Given the description of an element on the screen output the (x, y) to click on. 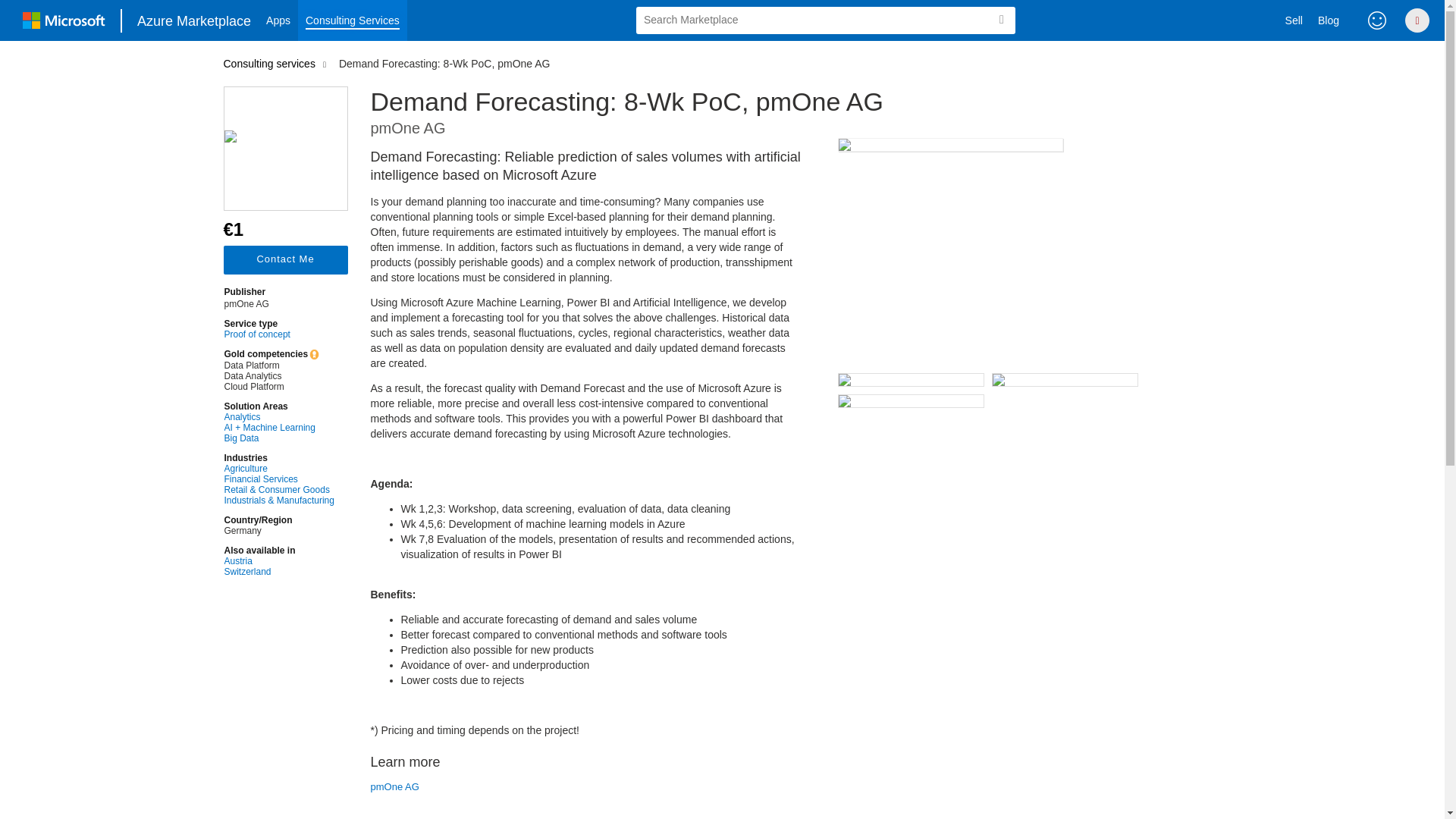
Azure Marketplace (194, 20)
Sell (1294, 20)
Search (1001, 19)
Search  (1001, 19)
Apps (278, 20)
Feedback (1377, 20)
Consulting Services (352, 20)
Blog (1328, 20)
